Given the description of an element on the screen output the (x, y) to click on. 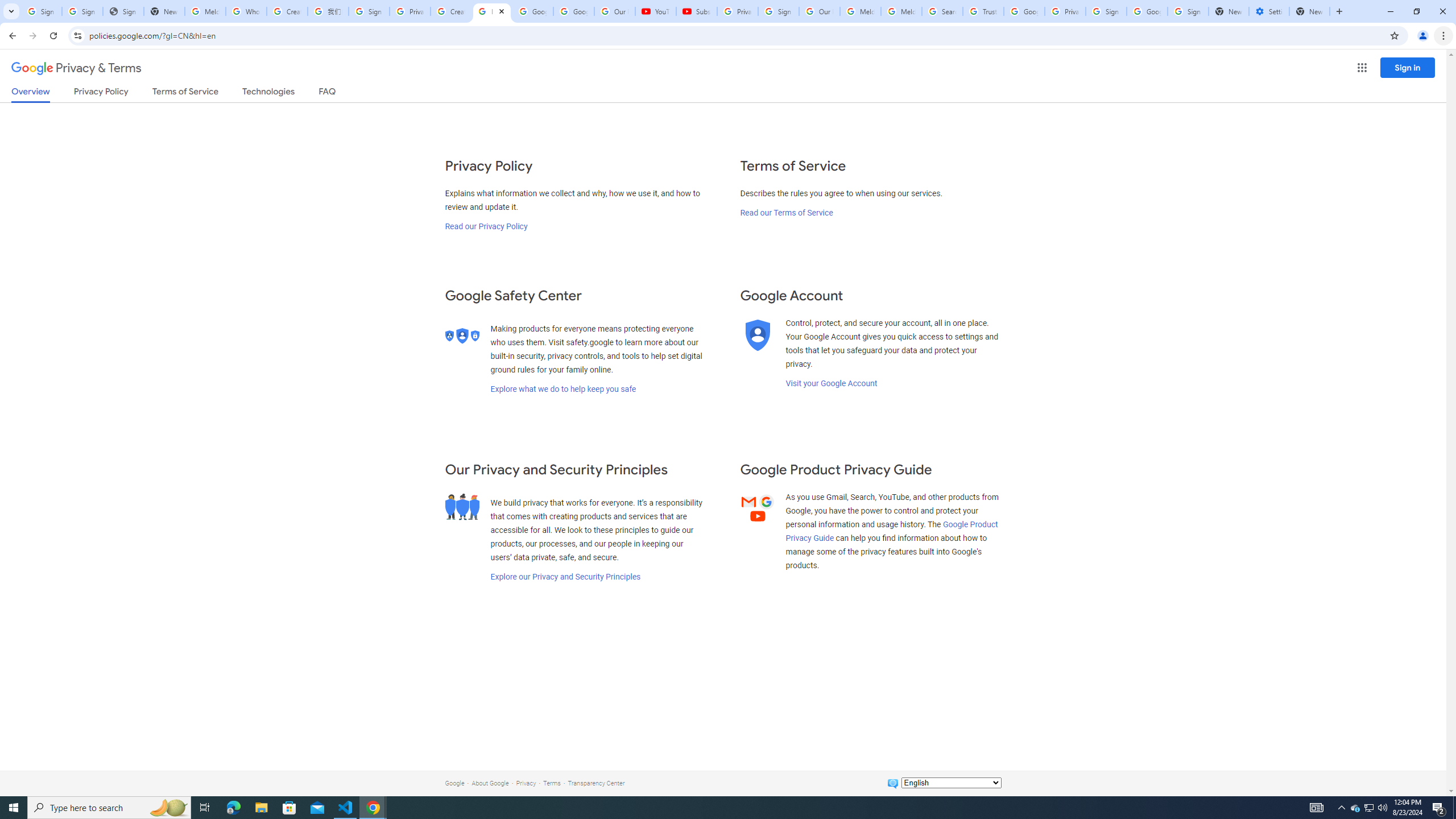
Terms of Service (184, 93)
Address and search bar (735, 35)
Technologies (268, 93)
Sign in - Google Accounts (81, 11)
Change language: (951, 782)
Create your Google Account (450, 11)
Privacy (525, 783)
Sign in - Google Accounts (777, 11)
